Given the description of an element on the screen output the (x, y) to click on. 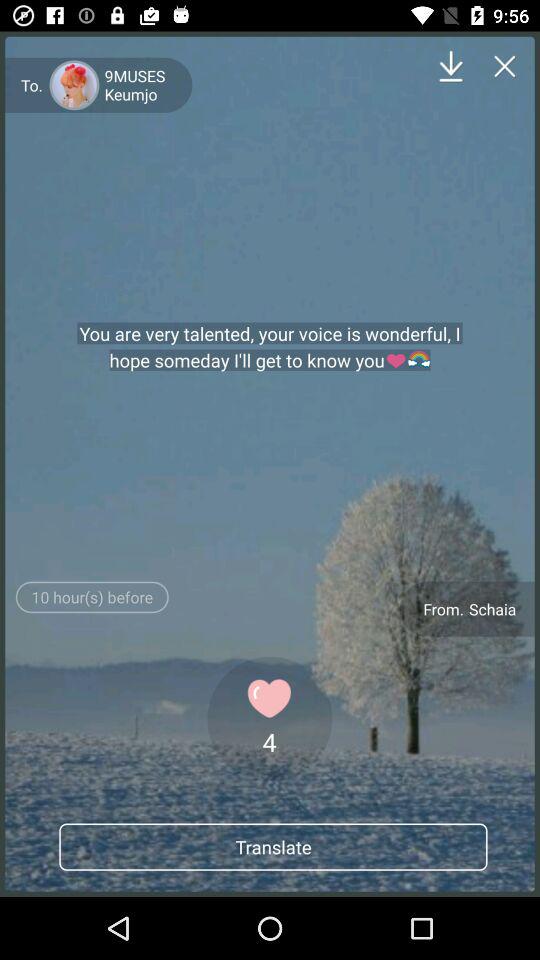
turn on the item above the 10 hour s icon (269, 347)
